Given the description of an element on the screen output the (x, y) to click on. 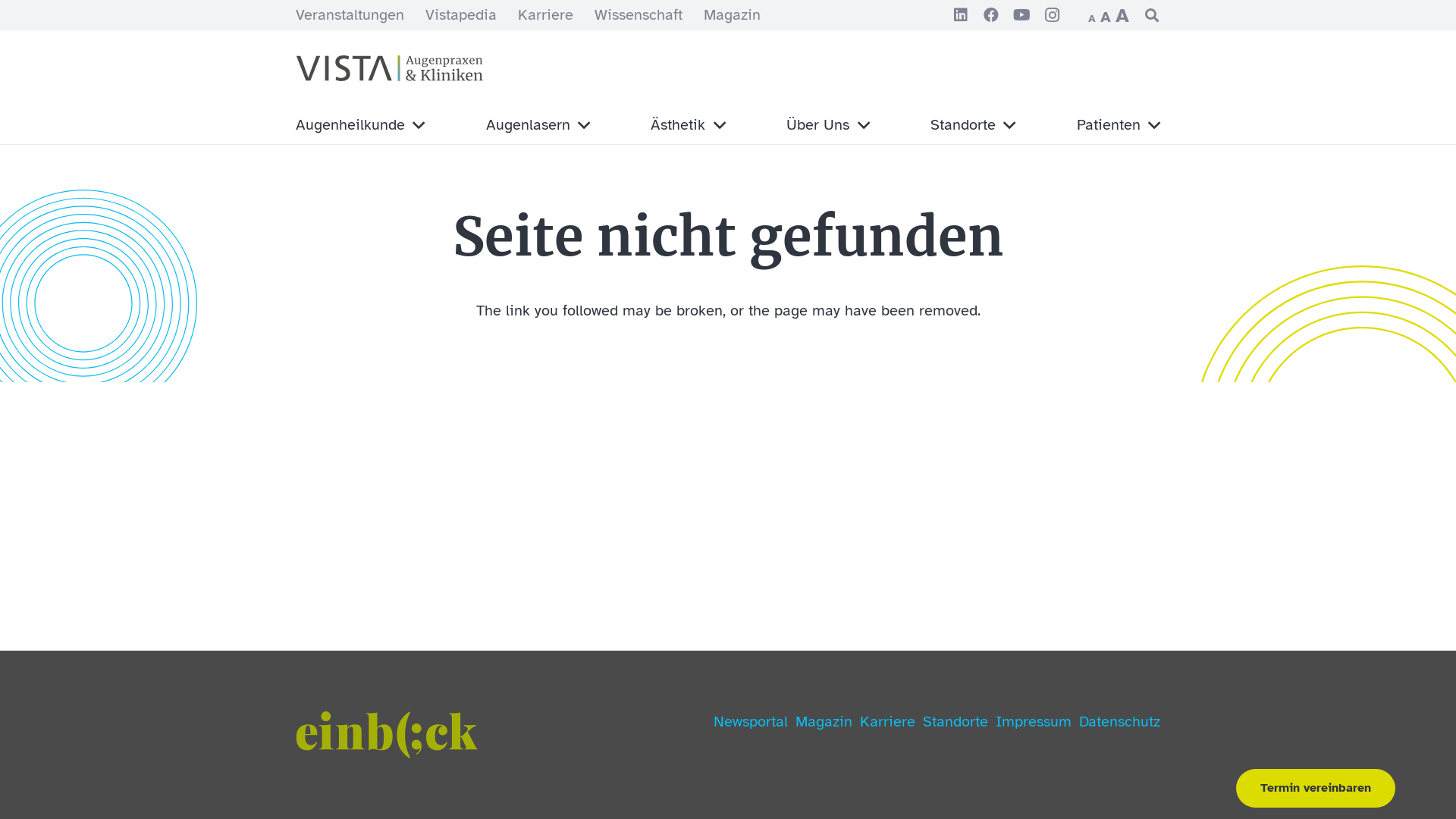
Karriere Element type: text (887, 721)
Augenlasern Element type: text (537, 125)
A
Increase font size. Element type: text (1122, 15)
Patienten Element type: text (1118, 125)
A
Reset font size. Element type: text (1105, 16)
Magazin Element type: text (823, 721)
Facebook Element type: hover (990, 15)
Karriere Element type: text (545, 14)
Instagram Element type: hover (1051, 15)
Veranstaltungen Element type: text (349, 14)
LinkedIn Element type: hover (960, 15)
Datenschutz Element type: text (1119, 721)
Magazin Element type: text (731, 14)
Standorte Element type: text (955, 721)
Vistapedia Element type: text (460, 14)
Newsportal Element type: text (750, 721)
A
Decrease font size. Element type: text (1091, 18)
Augenheilkunde Element type: text (359, 125)
Wissenschaft Element type: text (638, 14)
YouTube Element type: hover (1021, 15)
Termin vereinbaren Element type: text (1315, 787)
Standorte Element type: text (972, 125)
Impressum Element type: text (1033, 721)
